Given the description of an element on the screen output the (x, y) to click on. 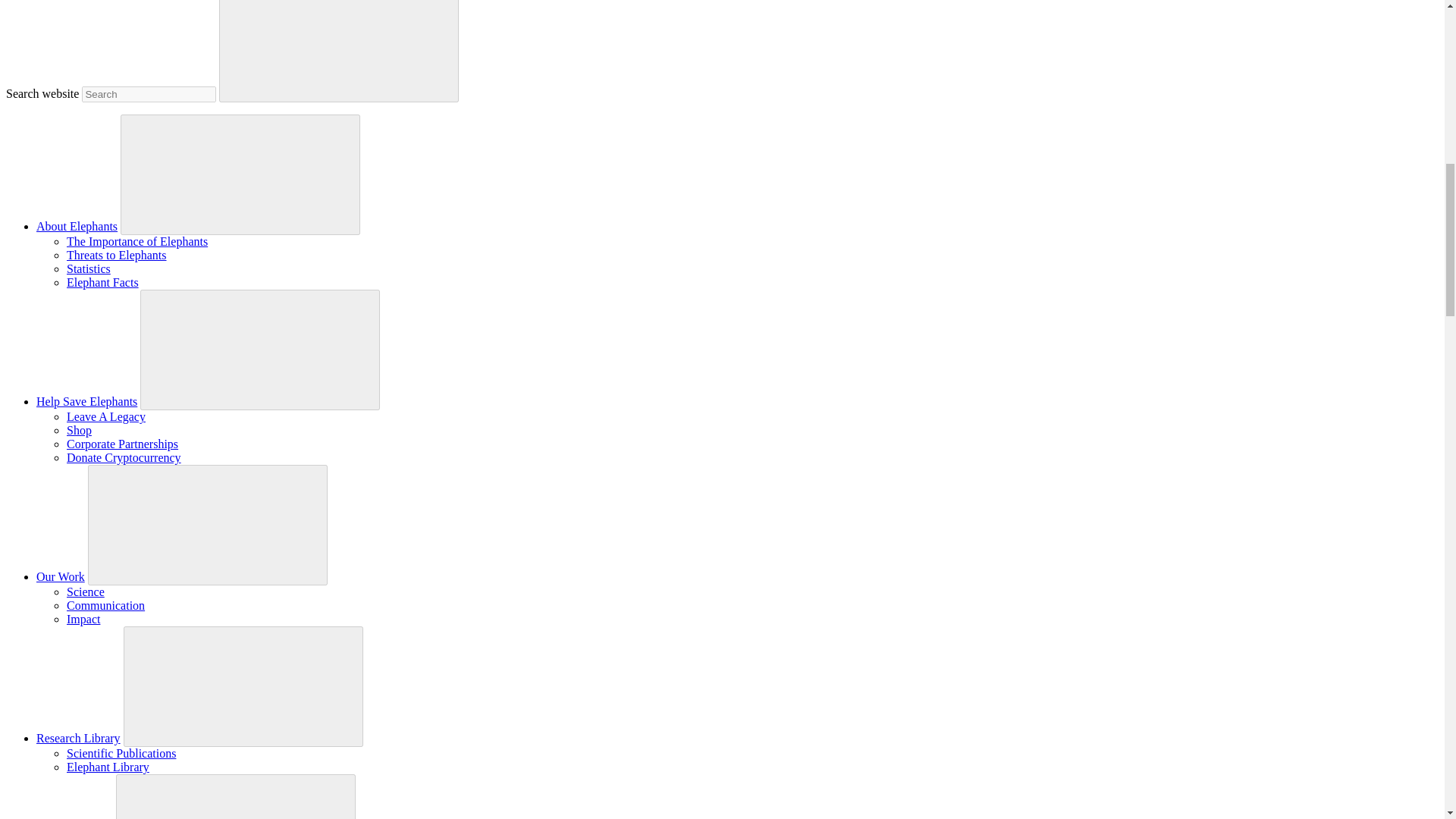
Expand dropdown (235, 797)
Search submit (338, 51)
Expand dropdown (260, 348)
Expand dropdown (239, 173)
Expand dropdown (207, 523)
Expand dropdown (242, 685)
